Given the description of an element on the screen output the (x, y) to click on. 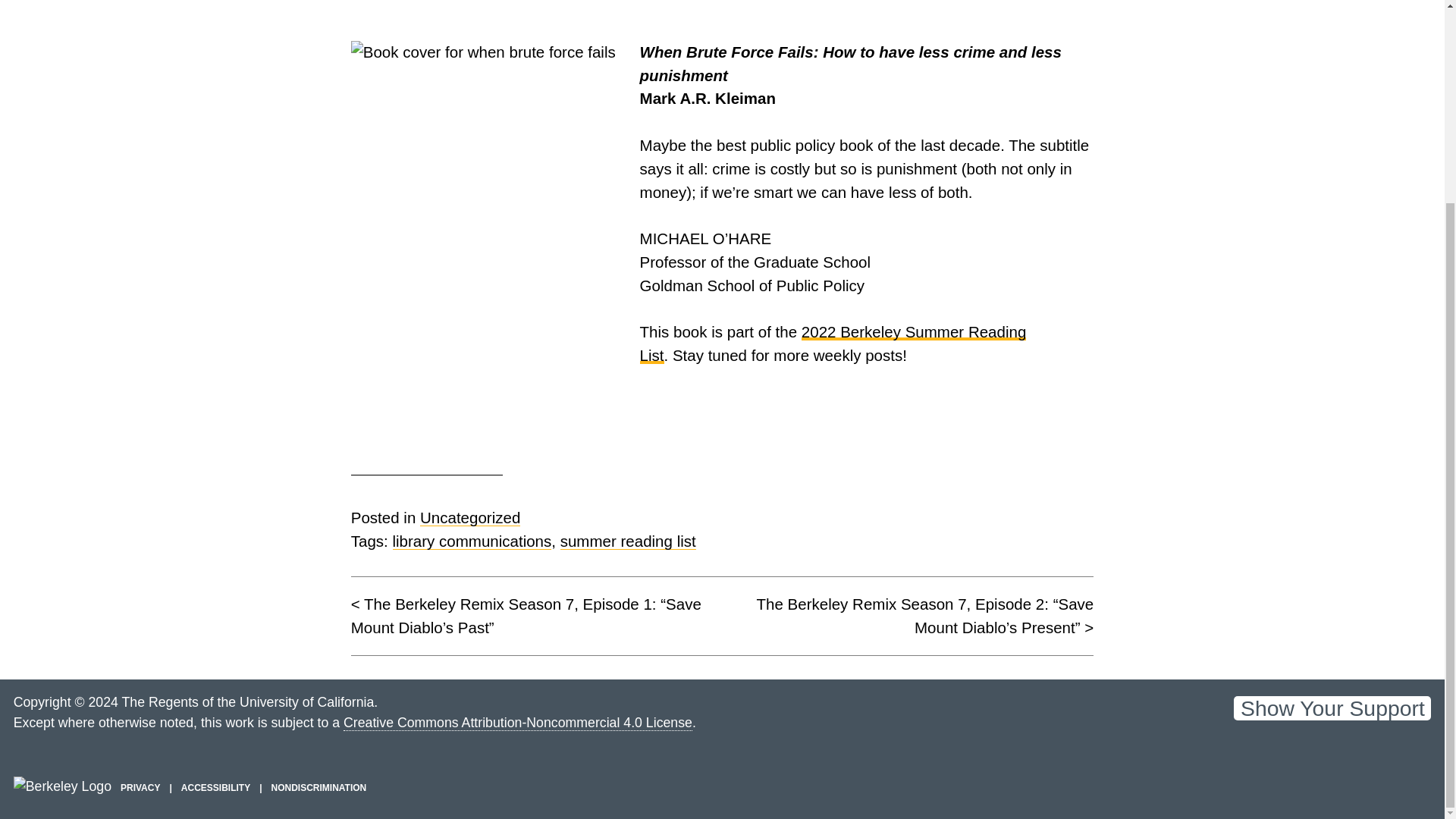
Creative Commons Attribution-Noncommercial 4.0 License (518, 722)
Show Your Support (1332, 708)
2022 Berkeley Summer Reading List (833, 342)
summer reading list (627, 540)
library communications (472, 540)
Uncategorized (469, 517)
